Given the description of an element on the screen output the (x, y) to click on. 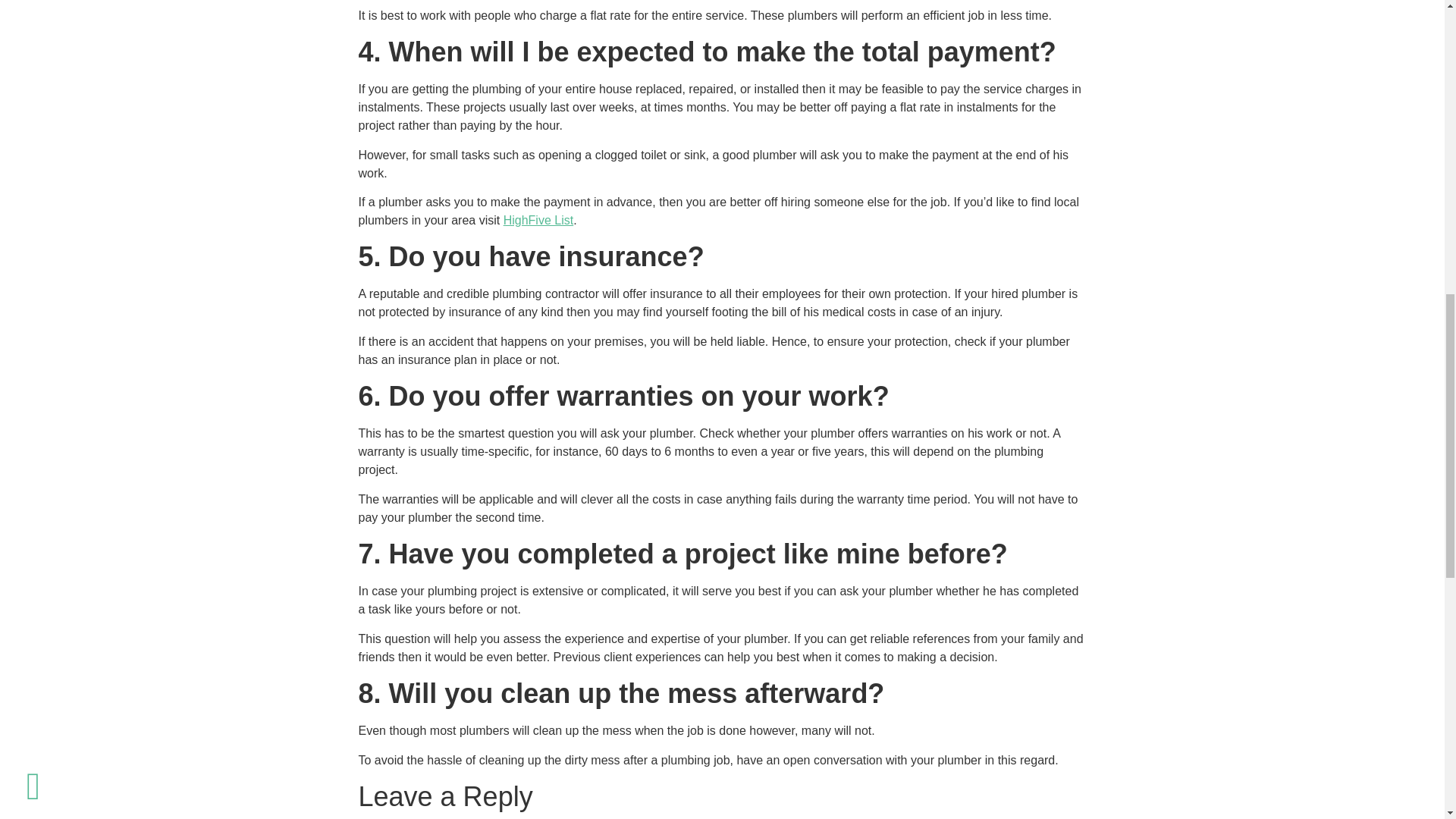
HighFive List (538, 219)
